Given the description of an element on the screen output the (x, y) to click on. 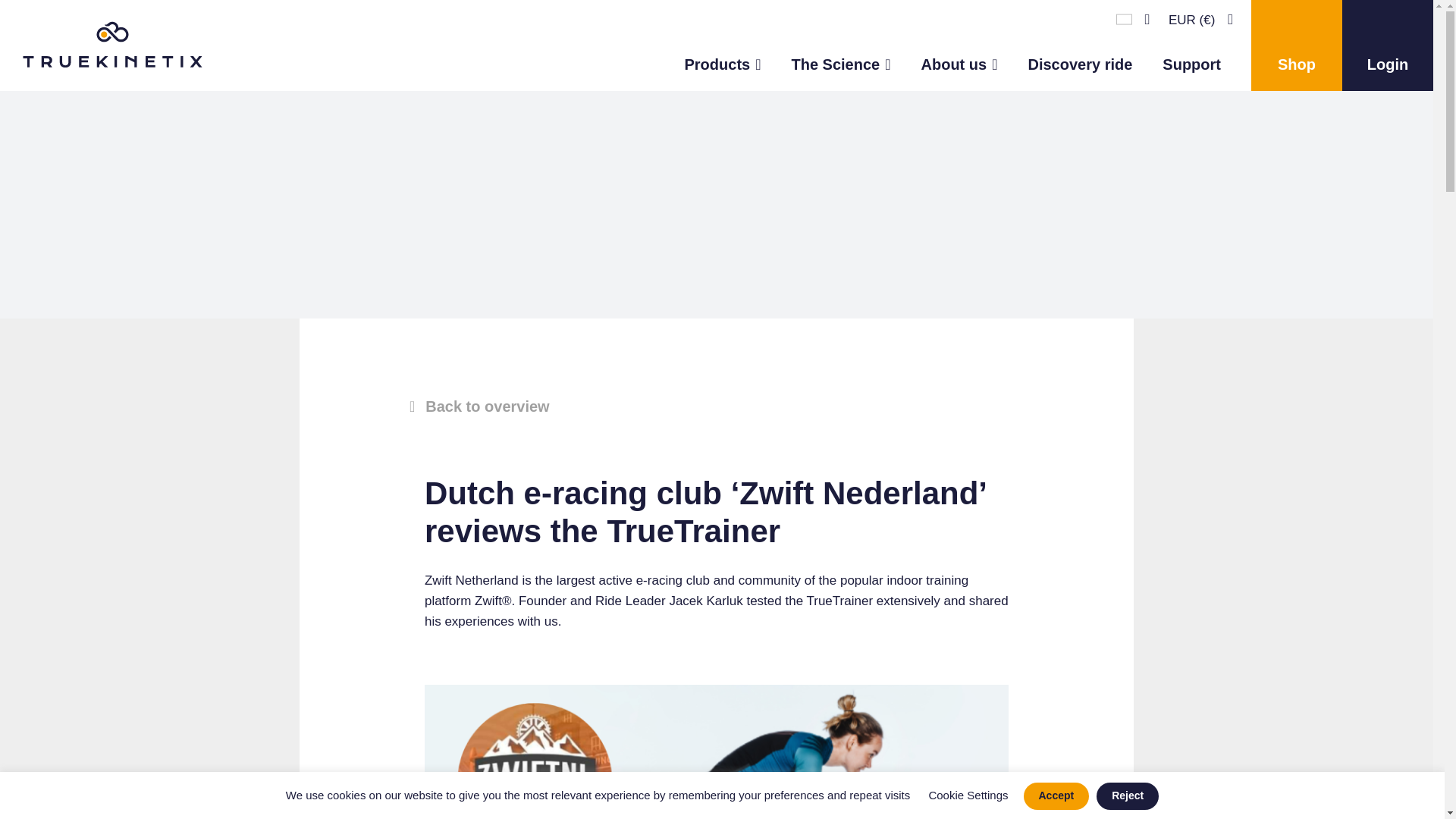
The Science (839, 45)
Discovery ride (1079, 45)
